Given the description of an element on the screen output the (x, y) to click on. 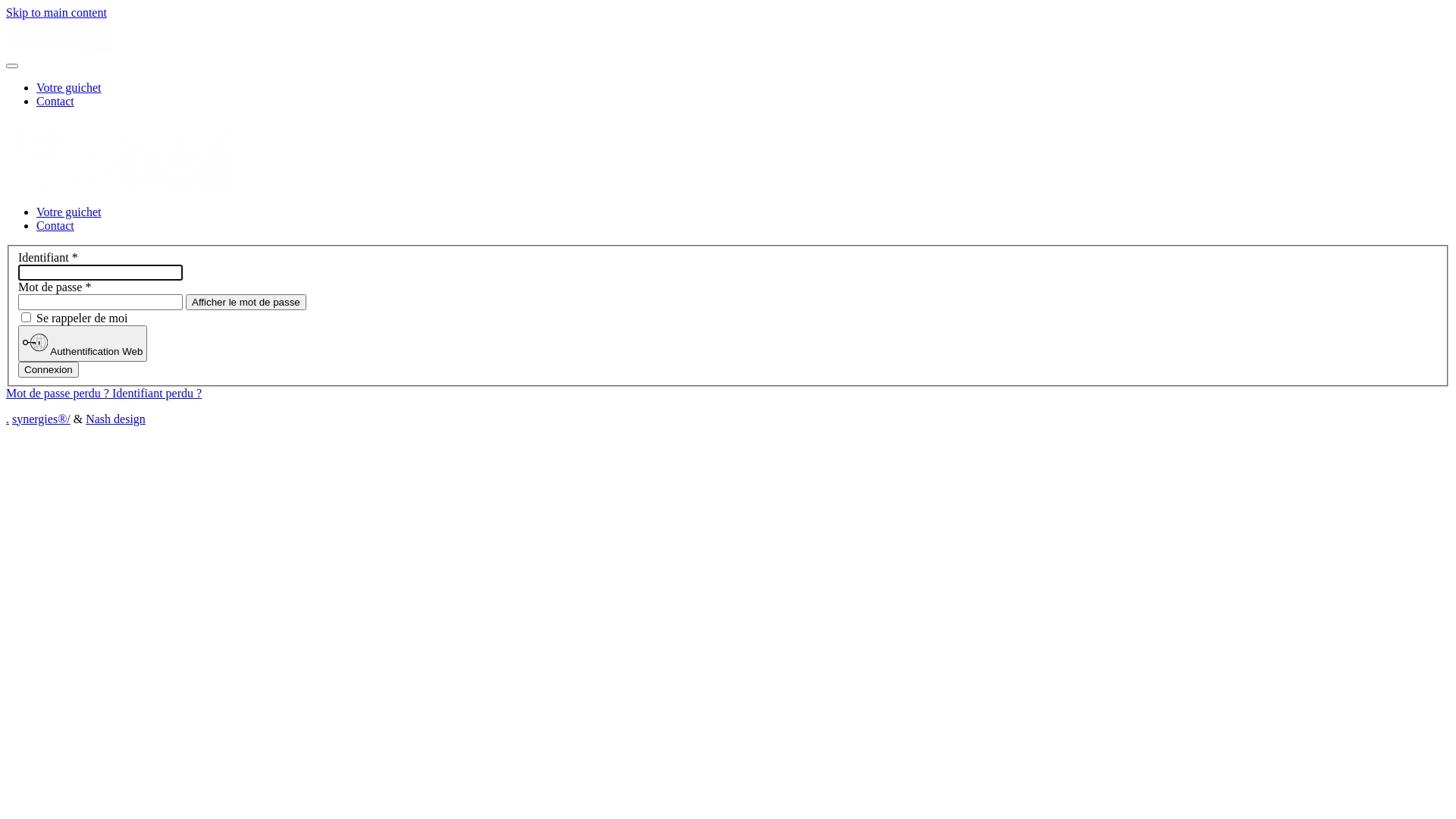
Mot de passe perdu ? Element type: text (59, 392)
Contact Element type: text (55, 225)
Nash design Element type: text (115, 418)
Skip to main content Element type: text (56, 12)
Identifiant perdu ? Element type: text (156, 392)
Votre guichet Element type: text (68, 87)
Contact Element type: text (55, 100)
Authentification Web Element type: text (82, 343)
Afficher le mot de passe Element type: text (245, 302)
. Element type: text (7, 418)
Votre guichet Element type: text (68, 211)
Connexion Element type: text (48, 369)
